Given the description of an element on the screen output the (x, y) to click on. 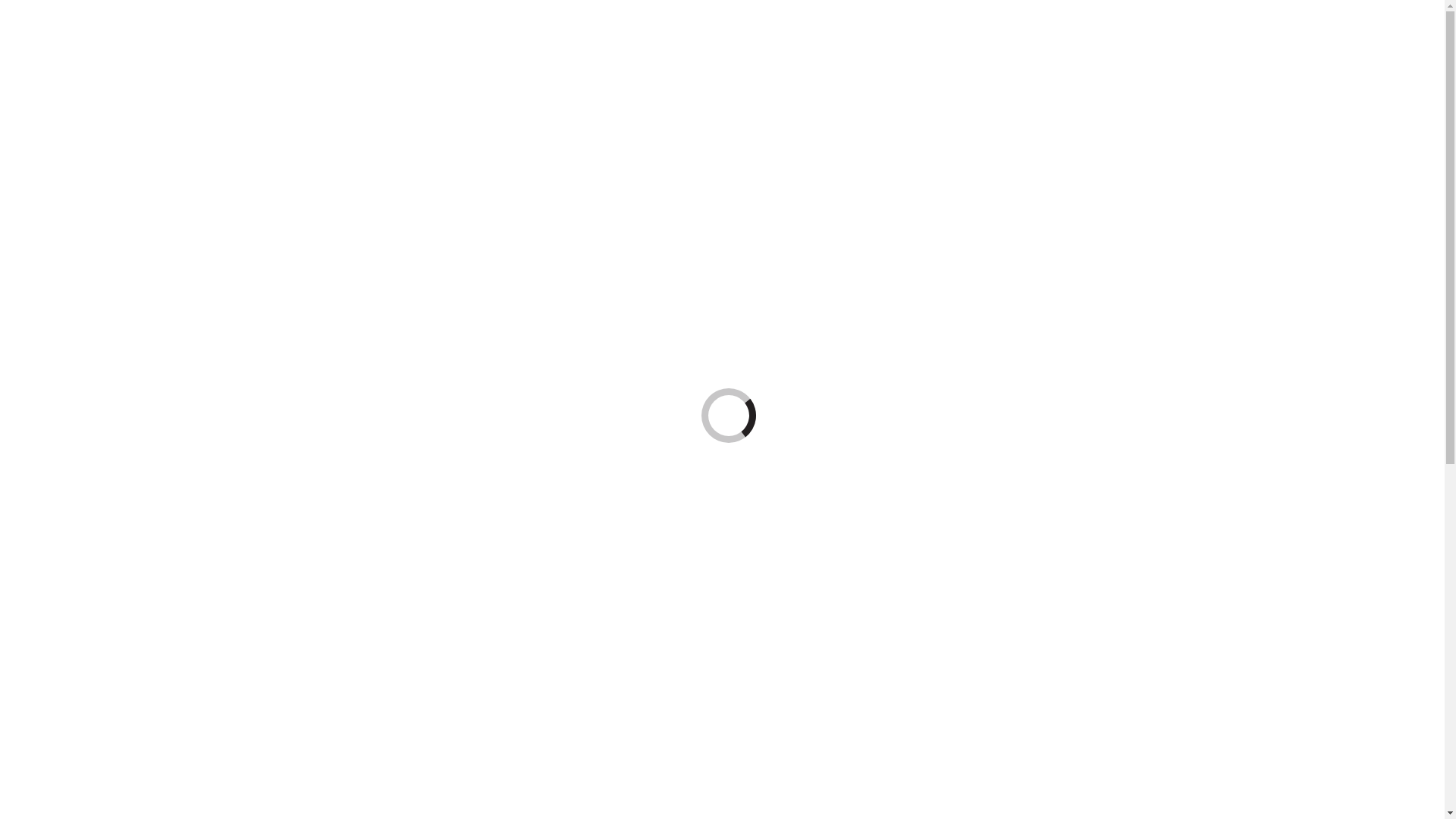
Get a Quote Element type: text (65, 403)
PAY YOUR BILL Element type: text (50, 254)
About Us Element type: text (59, 78)
Skip to content Element type: text (42, 12)
Contact Us Element type: text (63, 215)
Get a Quote Element type: text (65, 201)
Facebook Element type: text (29, 241)
Contact Us Element type: text (63, 417)
About Us Element type: text (59, 280)
Home Element type: text (50, 517)
02 4294 1197 Element type: text (127, 254)
